Given the description of an element on the screen output the (x, y) to click on. 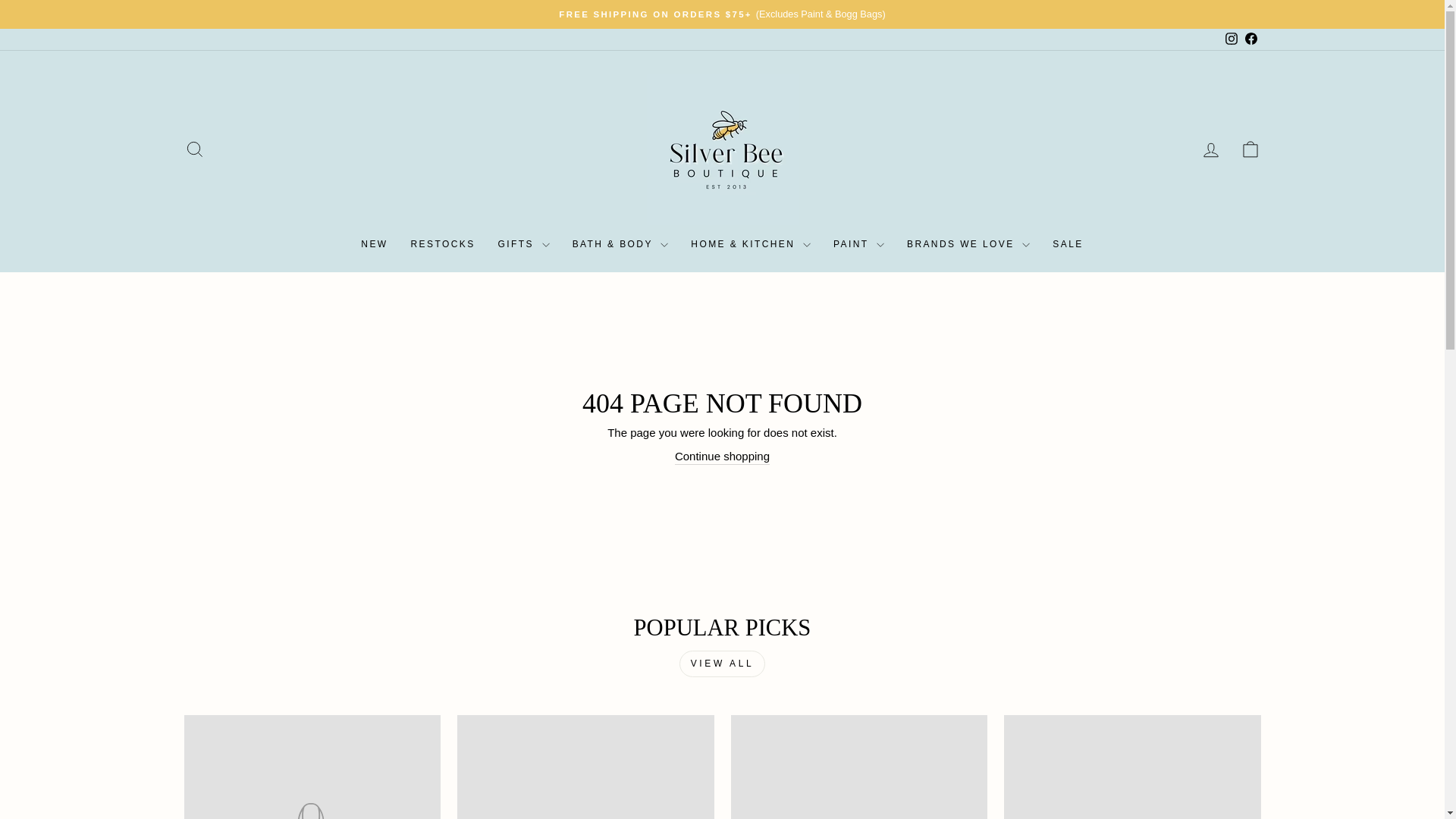
ICON-BAG-MINIMAL (1249, 148)
Silver Bee Boutique on Instagram (1230, 38)
ACCOUNT (1210, 149)
instagram (1231, 38)
ICON-SEARCH (194, 148)
Silver Bee Boutique on Facebook (1250, 38)
